Given the description of an element on the screen output the (x, y) to click on. 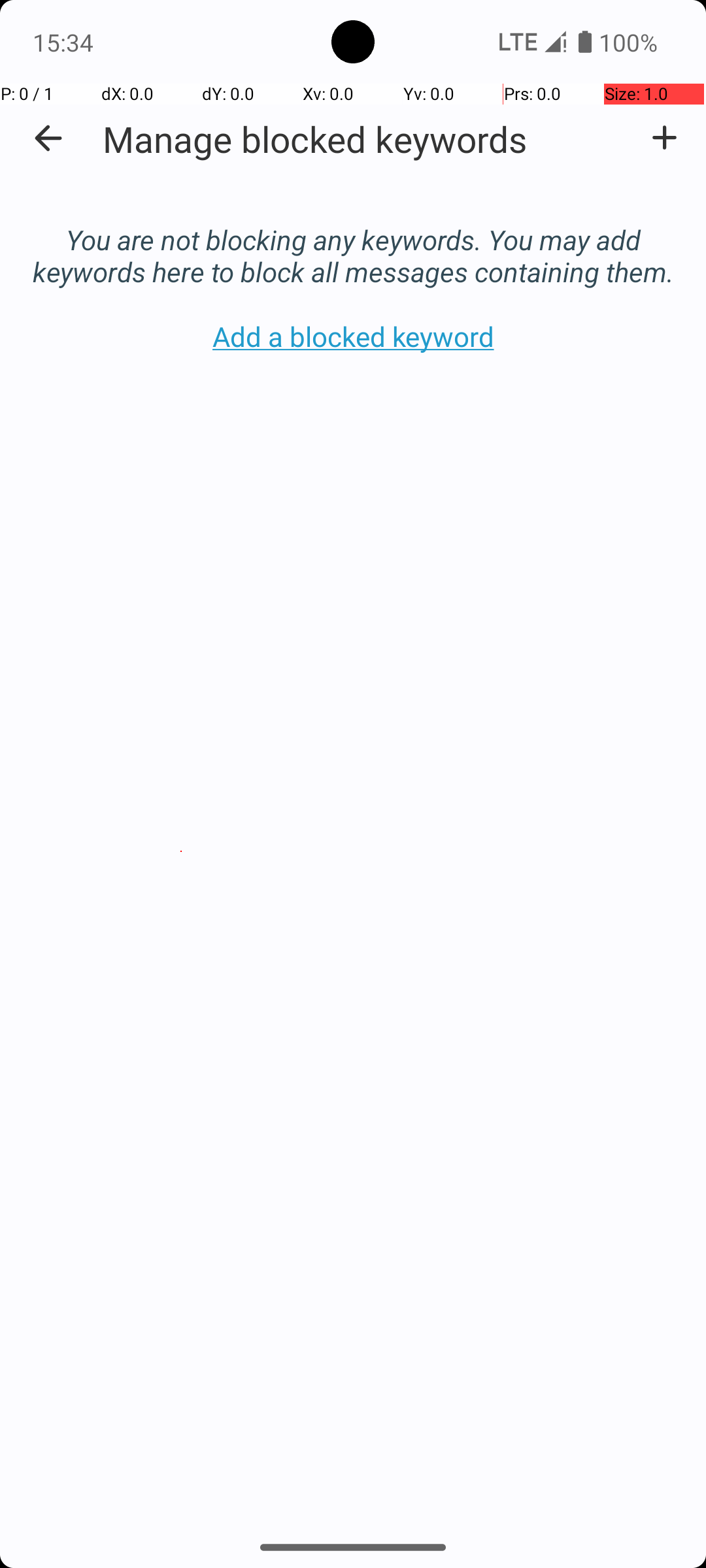
Manage blocked keywords Element type: android.widget.TextView (314, 138)
Add a blocked keyword Element type: android.widget.Button (664, 137)
You are not blocking any keywords. You may add keywords here to block all messages containing them. Element type: android.widget.TextView (353, 241)
